Given the description of an element on the screen output the (x, y) to click on. 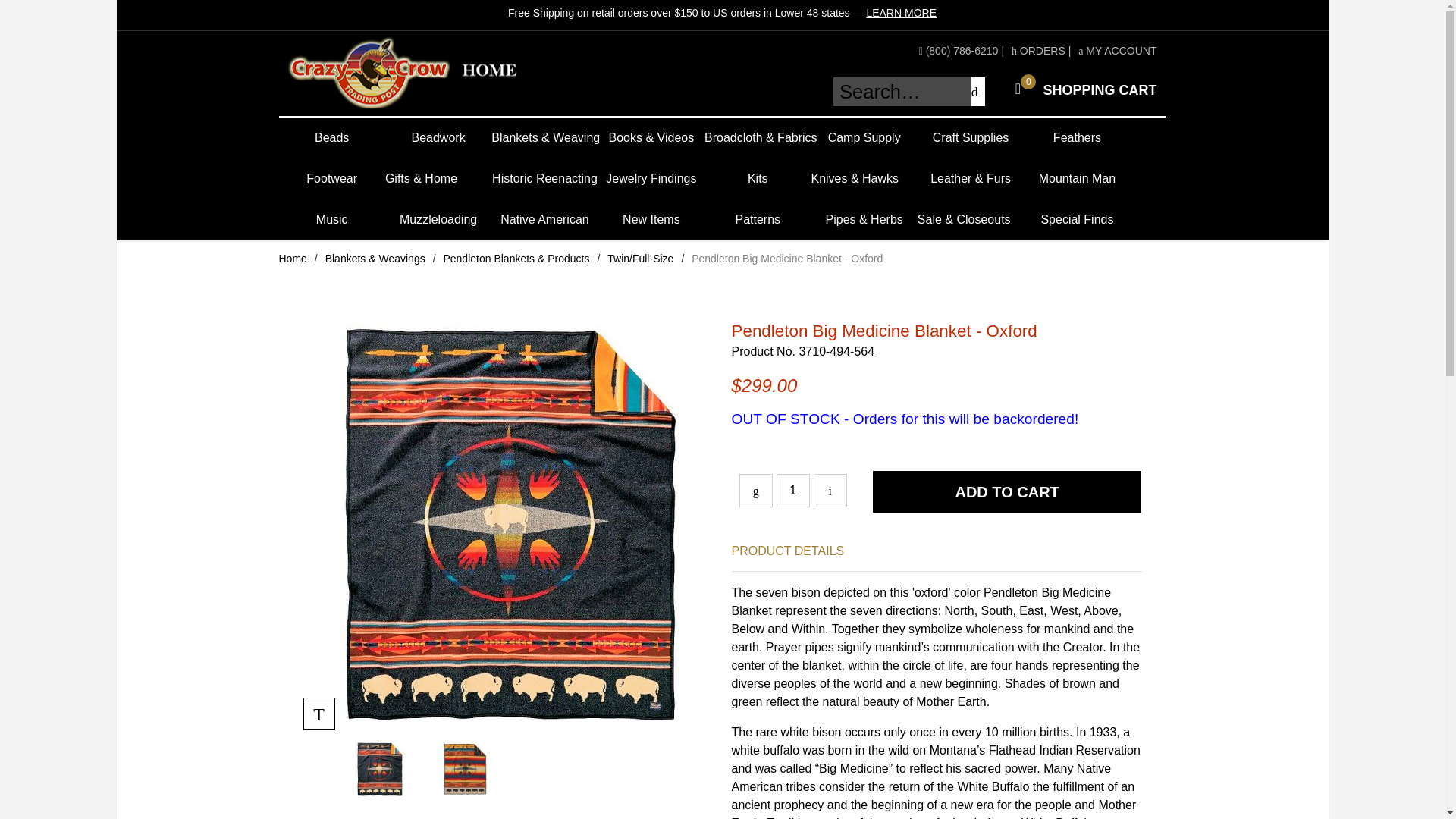
Add to Cart (1006, 491)
Pendleton Big Medicine Blanket - Oxford (1081, 89)
Home (438, 137)
1 (293, 258)
Beads (792, 490)
ORDERS (332, 137)
MY ACCOUNT (1038, 50)
Crazy Crow Trading Post (1117, 50)
